Given the description of an element on the screen output the (x, y) to click on. 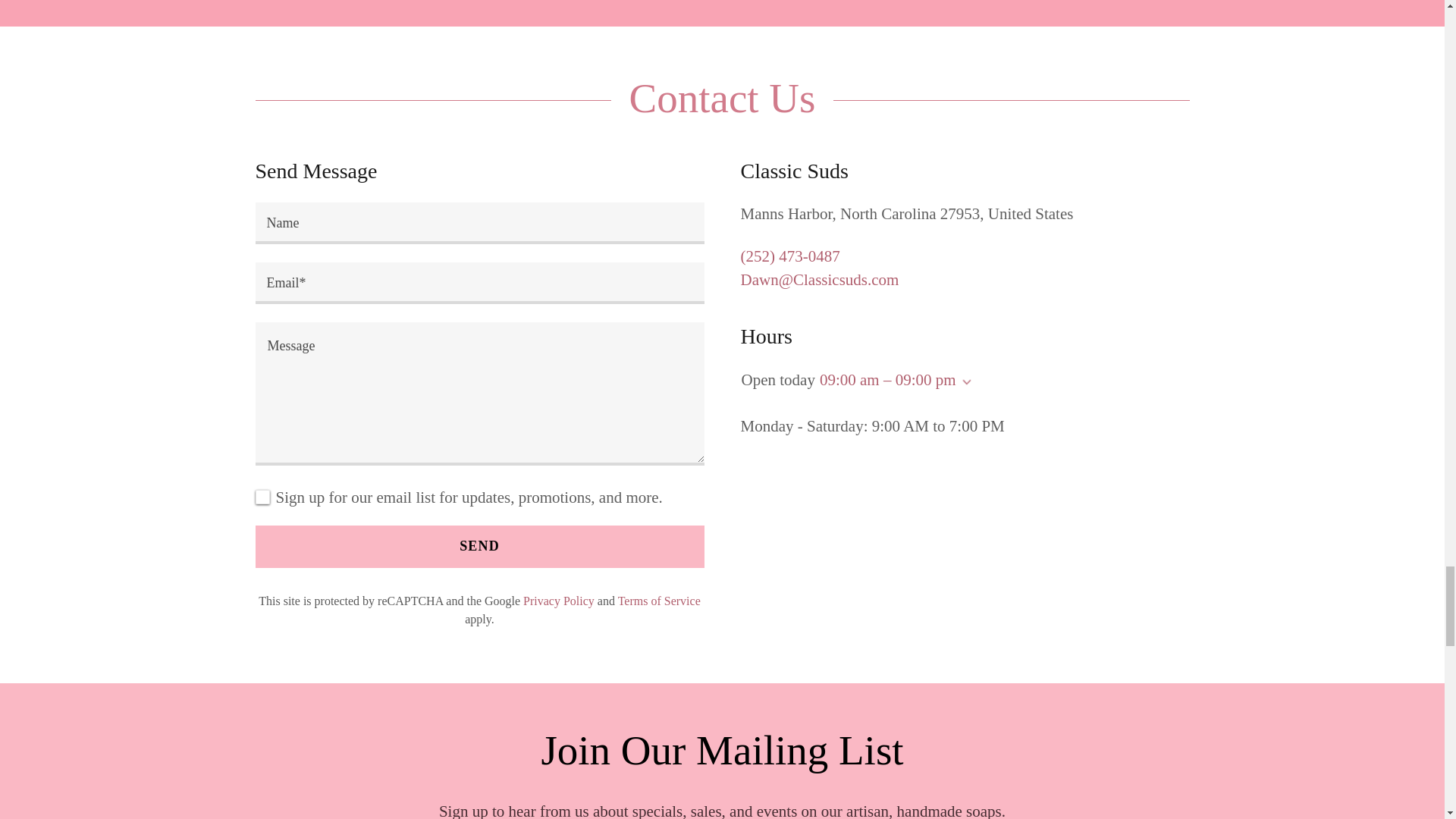
Terms of Service (658, 600)
SEND (478, 546)
Privacy Policy (558, 600)
